Given the description of an element on the screen output the (x, y) to click on. 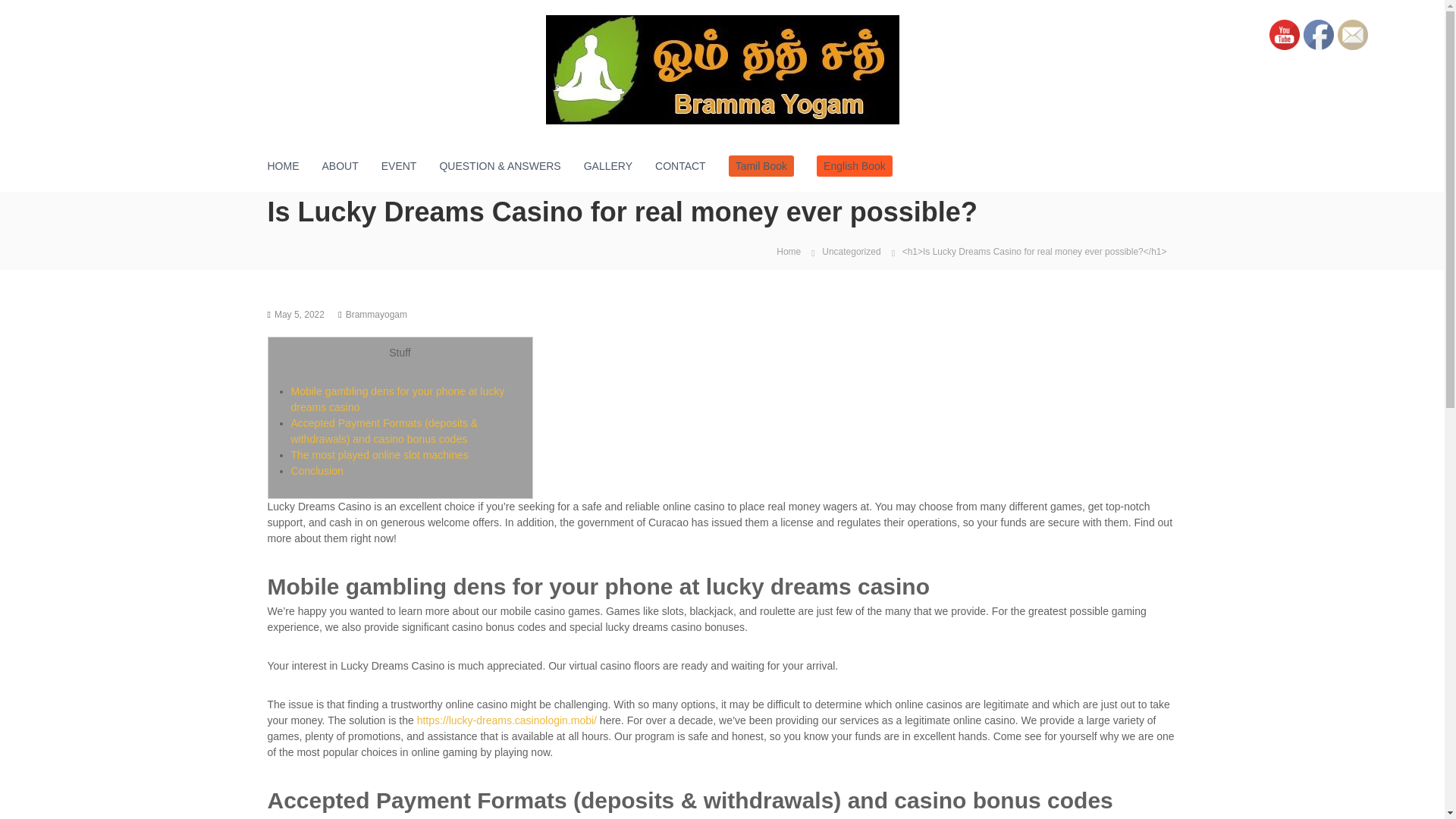
Tamil Book (761, 165)
Follow by Email (1353, 34)
The most played online slot machines (379, 454)
CONTACT (680, 165)
English Book (854, 165)
Conclusion (317, 470)
May 5, 2022 (299, 314)
Home (787, 250)
Facebook (1318, 34)
ABOUT (339, 165)
